Given the description of an element on the screen output the (x, y) to click on. 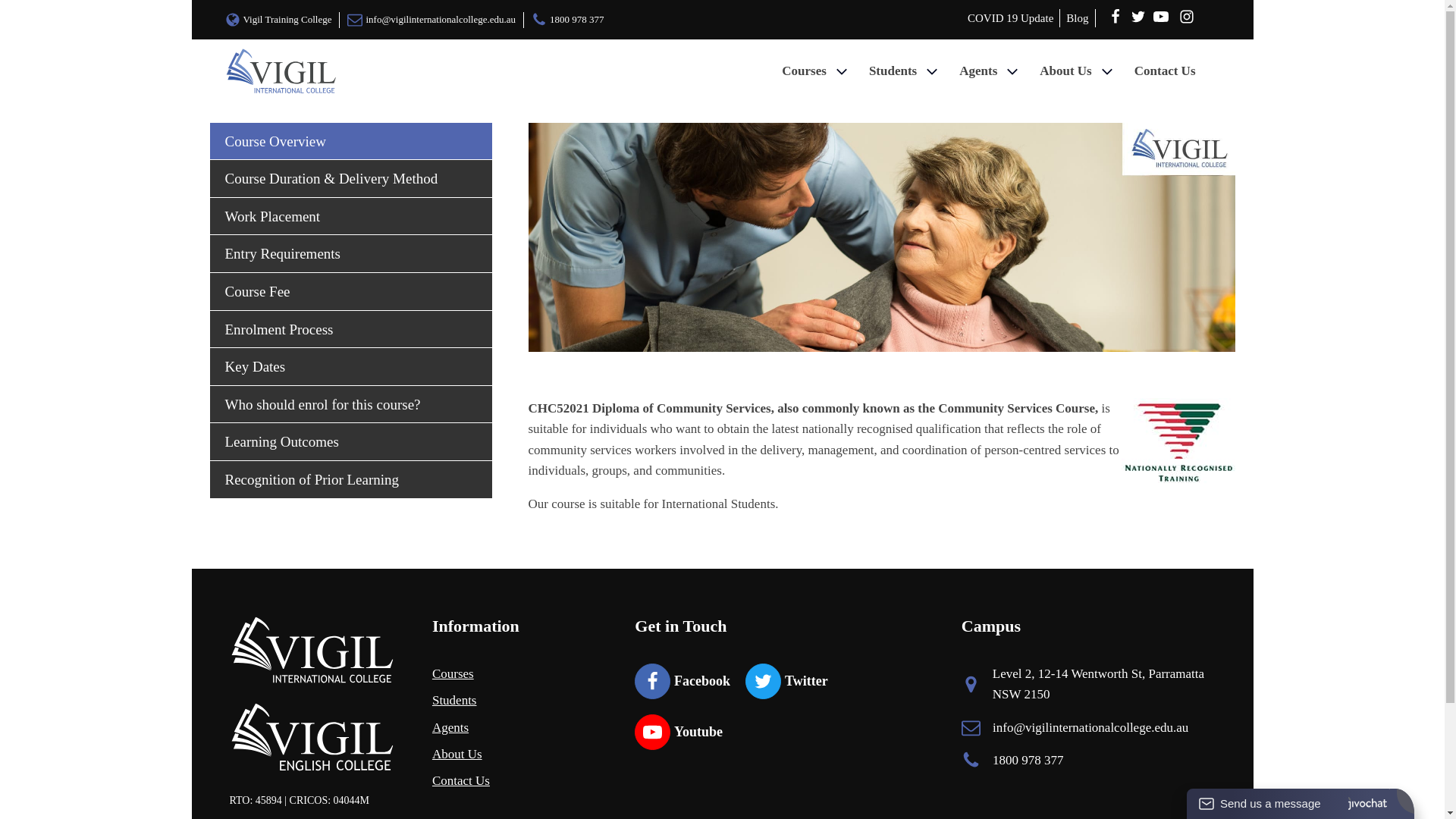
Courses (815, 71)
1800 978 377 (567, 19)
COVID 19 Update (1009, 18)
Vigil Training College (281, 19)
